Given the description of an element on the screen output the (x, y) to click on. 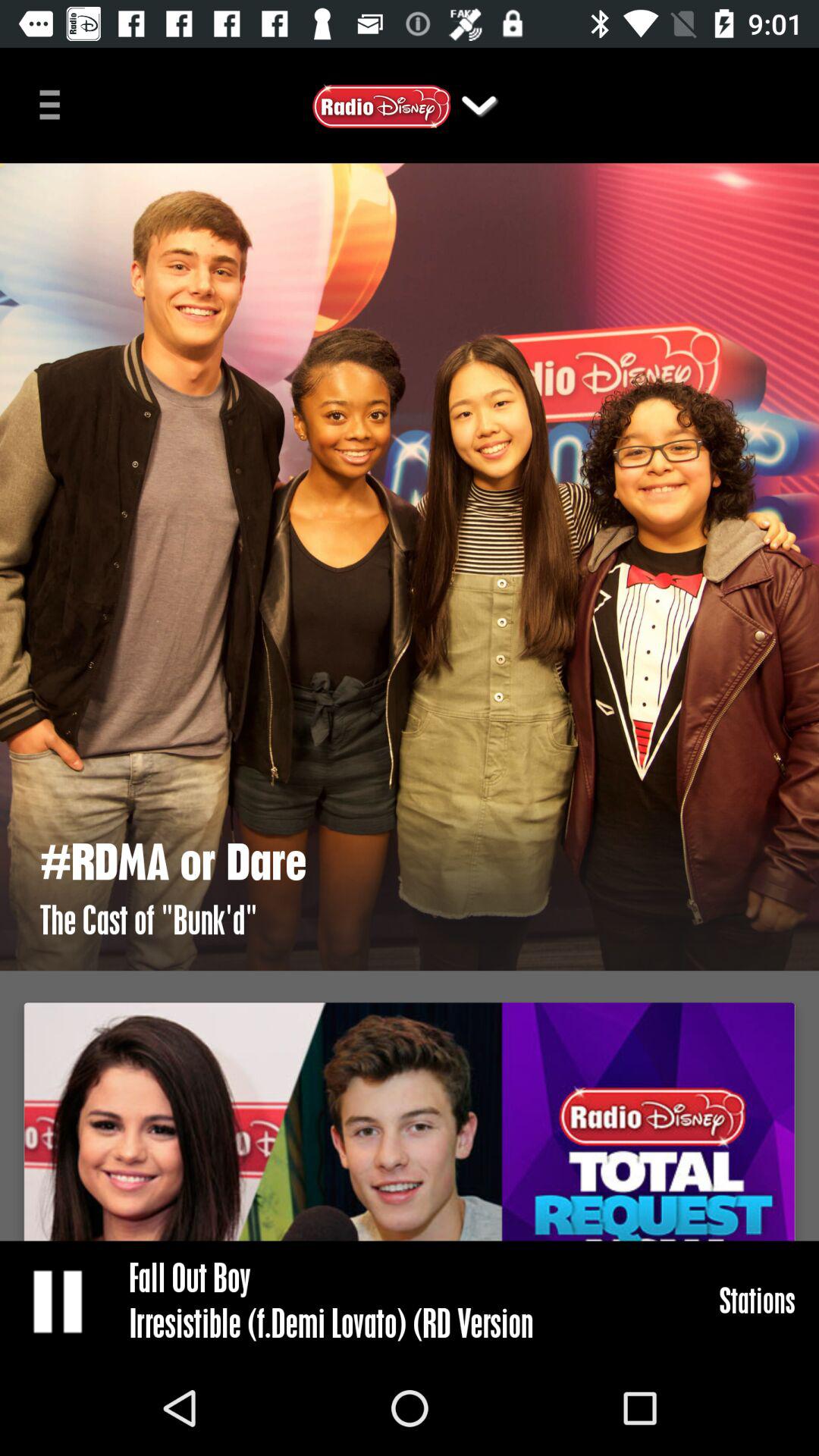
select the icon next to fall out boy icon (757, 1300)
